Given the description of an element on the screen output the (x, y) to click on. 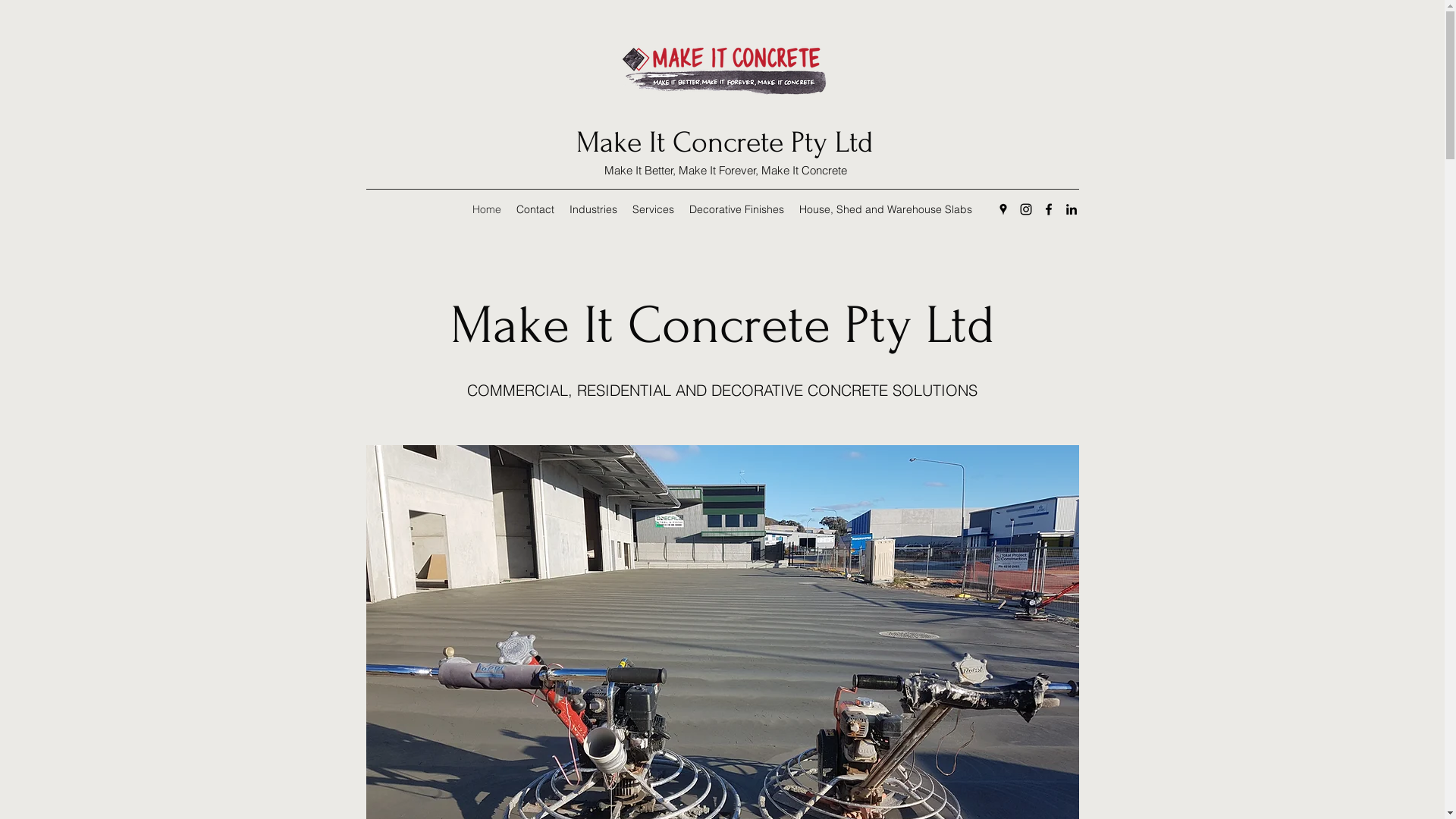
Decorative Finishes Element type: text (736, 208)
Industries Element type: text (592, 208)
Make It Concrete Pty Ltd Element type: text (724, 142)
Home Element type: text (486, 208)
Services Element type: text (652, 208)
Contact Element type: text (534, 208)
House, Shed and Warehouse Slabs Element type: text (885, 208)
